Given the description of an element on the screen output the (x, y) to click on. 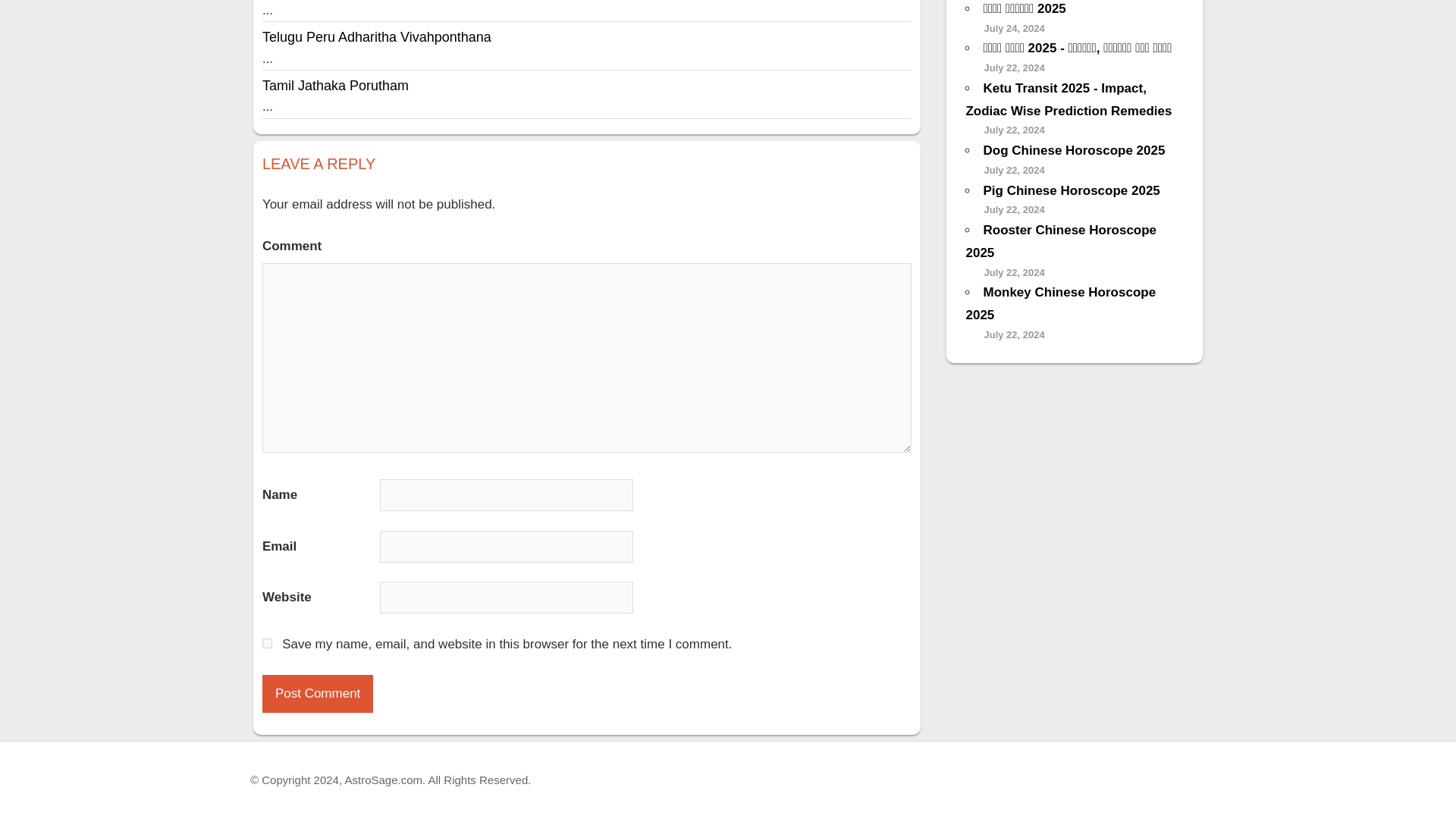
Tamil Jathaka Porutham (335, 85)
Post Comment (317, 693)
yes (267, 643)
Telugu Peru Adharitha Vivahponthana (377, 37)
